Given the description of an element on the screen output the (x, y) to click on. 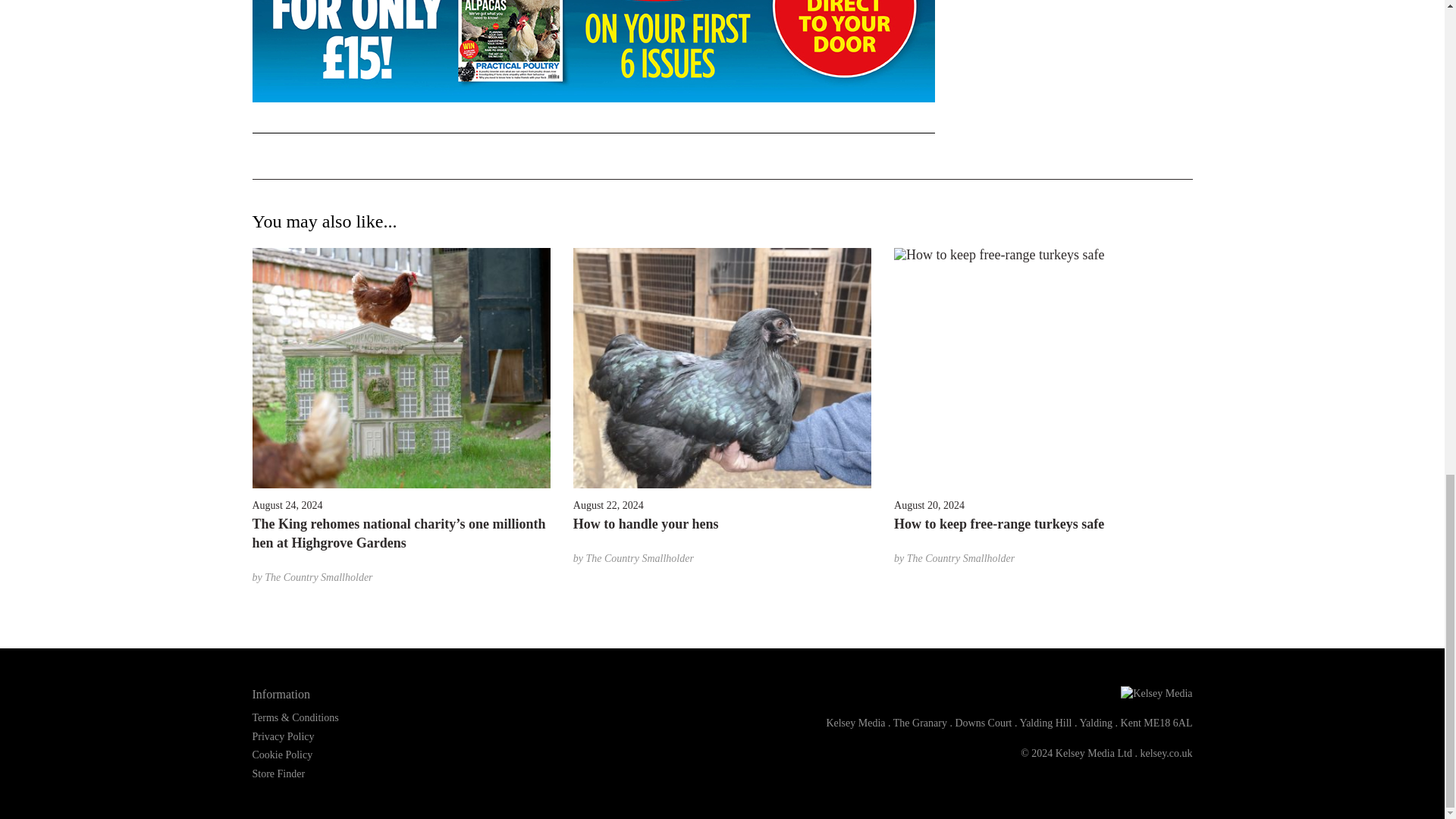
Store Finder (277, 773)
Cookie Policy (282, 754)
Privacy Policy (282, 736)
kelsey.co.uk (1166, 753)
